Given the description of an element on the screen output the (x, y) to click on. 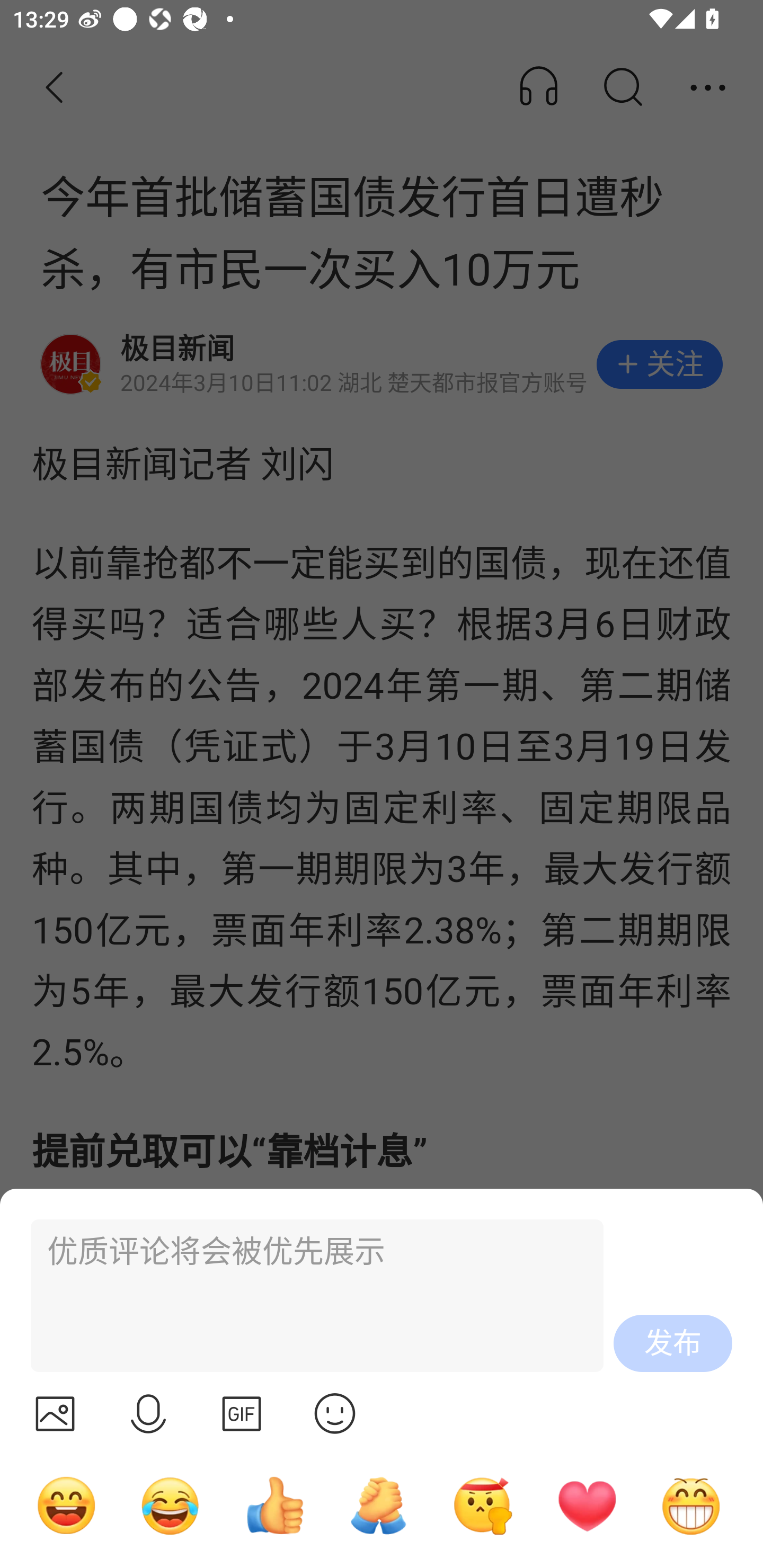
优质评论将会被优先展示 (308, 1295)
发布 (672, 1343)
 (54, 1413)
 (148, 1413)
 (241, 1413)
 (334, 1413)
哈哈 (66, 1505)
哭笑 (170, 1505)
点赞 (274, 1505)
加油 (378, 1505)
奋斗 (482, 1505)
心 (586, 1505)
呲牙 (690, 1505)
